Given the description of an element on the screen output the (x, y) to click on. 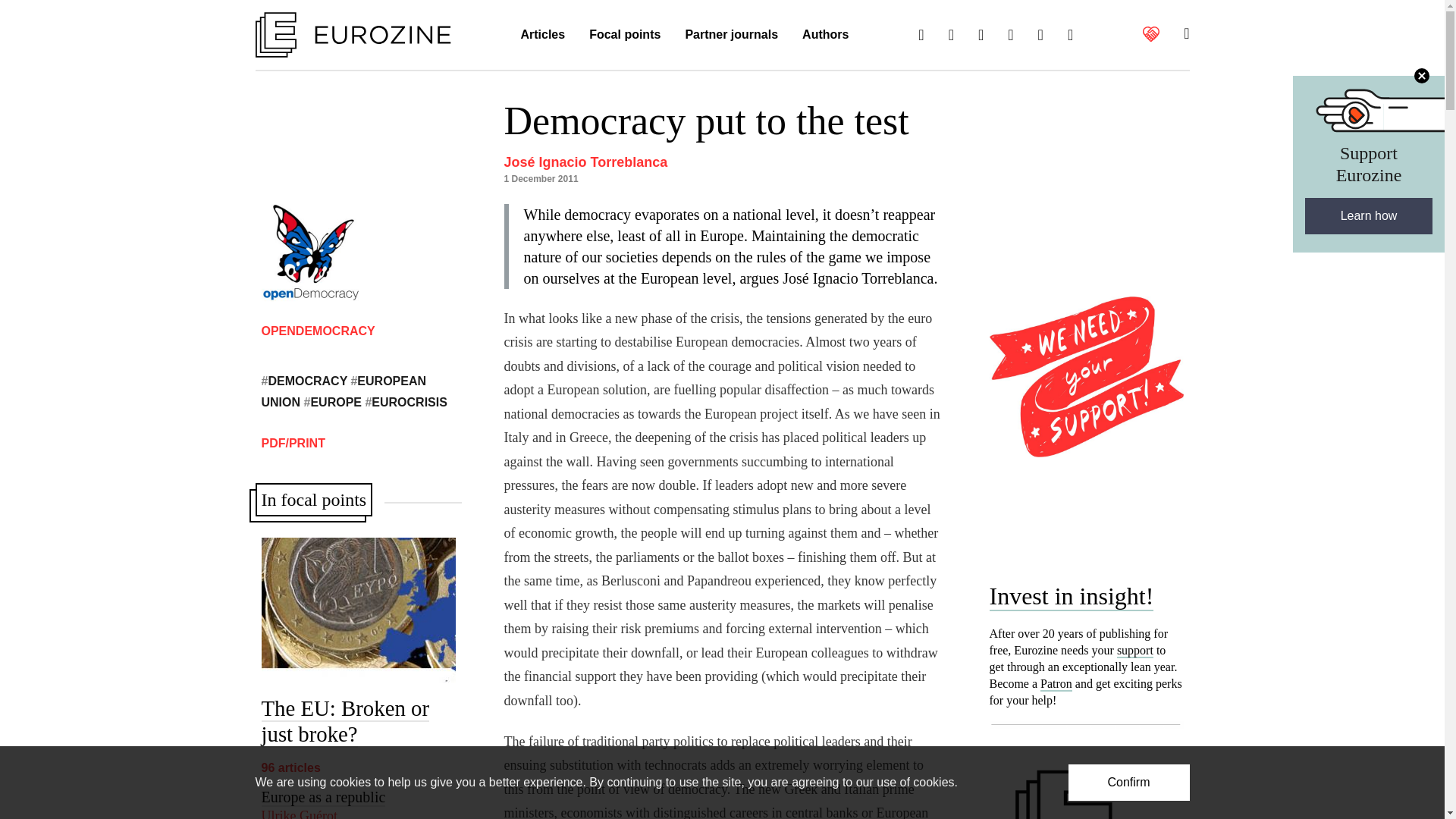
Learn how (1368, 216)
Authors (825, 34)
Articles (542, 34)
Focal points (624, 34)
Partner journals (731, 34)
Confirm (1128, 782)
